Given the description of an element on the screen output the (x, y) to click on. 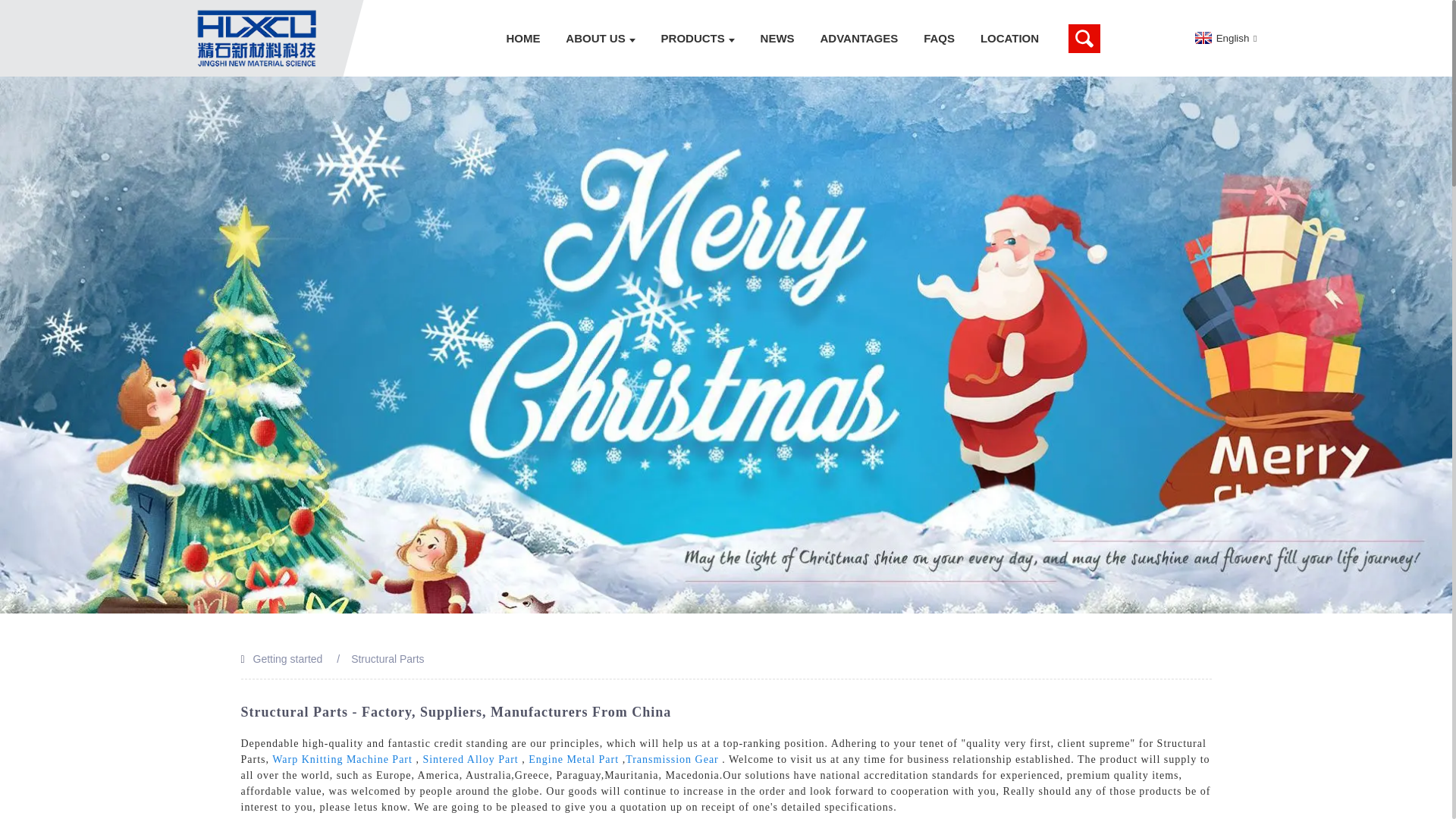
HOME (523, 37)
Engine Metal Part (573, 758)
Getting started (288, 658)
Structural Parts (386, 658)
Warp Knitting Machine Part (342, 758)
Sintered Alloy Part (470, 758)
NEWS (777, 37)
Warp Knitting Machine Part (342, 758)
ABOUT US (600, 37)
Sintered Alloy Part (470, 758)
ADVANTAGES (858, 37)
LOCATION (1009, 37)
Engine Metal Part (573, 758)
Transmission Gear (672, 758)
English (1224, 37)
